Given the description of an element on the screen output the (x, y) to click on. 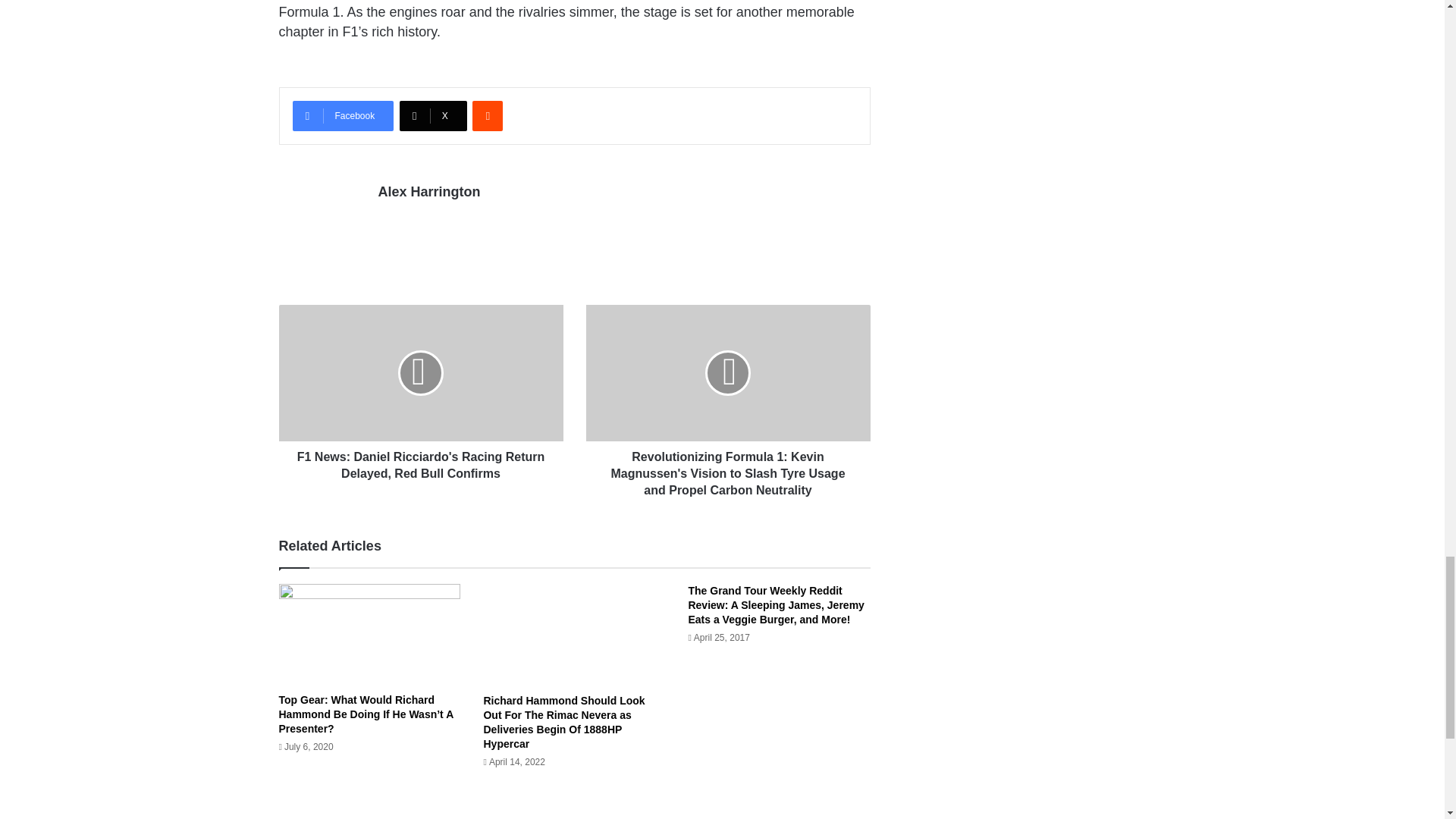
X (432, 115)
Reddit (486, 115)
Facebook (343, 115)
